Given the description of an element on the screen output the (x, y) to click on. 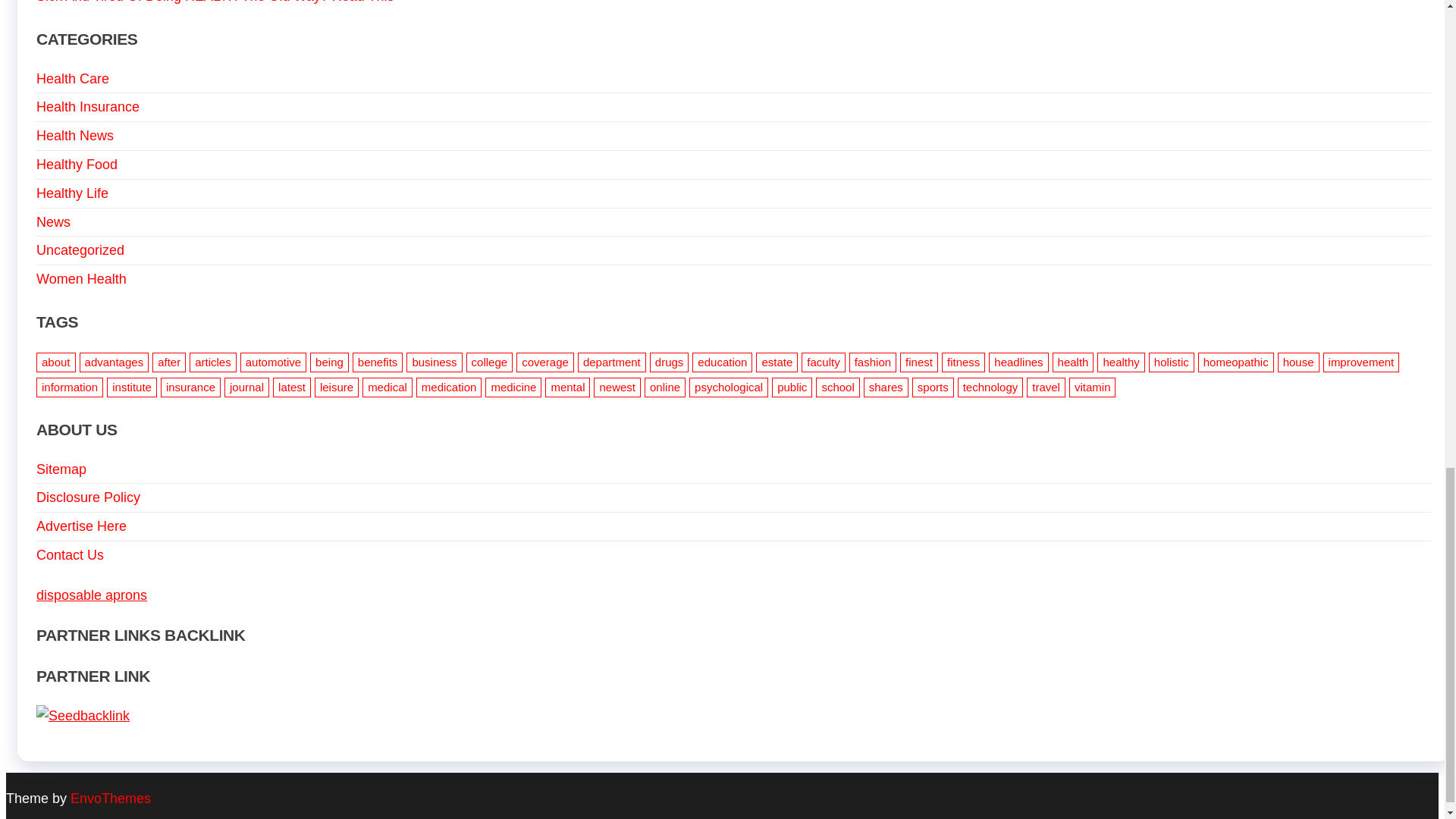
Women Health (81, 278)
Health Insurance (87, 106)
Uncategorized (79, 249)
Health Care (72, 78)
Healthy Food (76, 164)
Seedbacklink (82, 716)
Healthy Life (71, 192)
Sick And Tired Of Doing HEALTH The Old Way? Read This (215, 2)
Health News (74, 135)
News (52, 222)
